Given the description of an element on the screen output the (x, y) to click on. 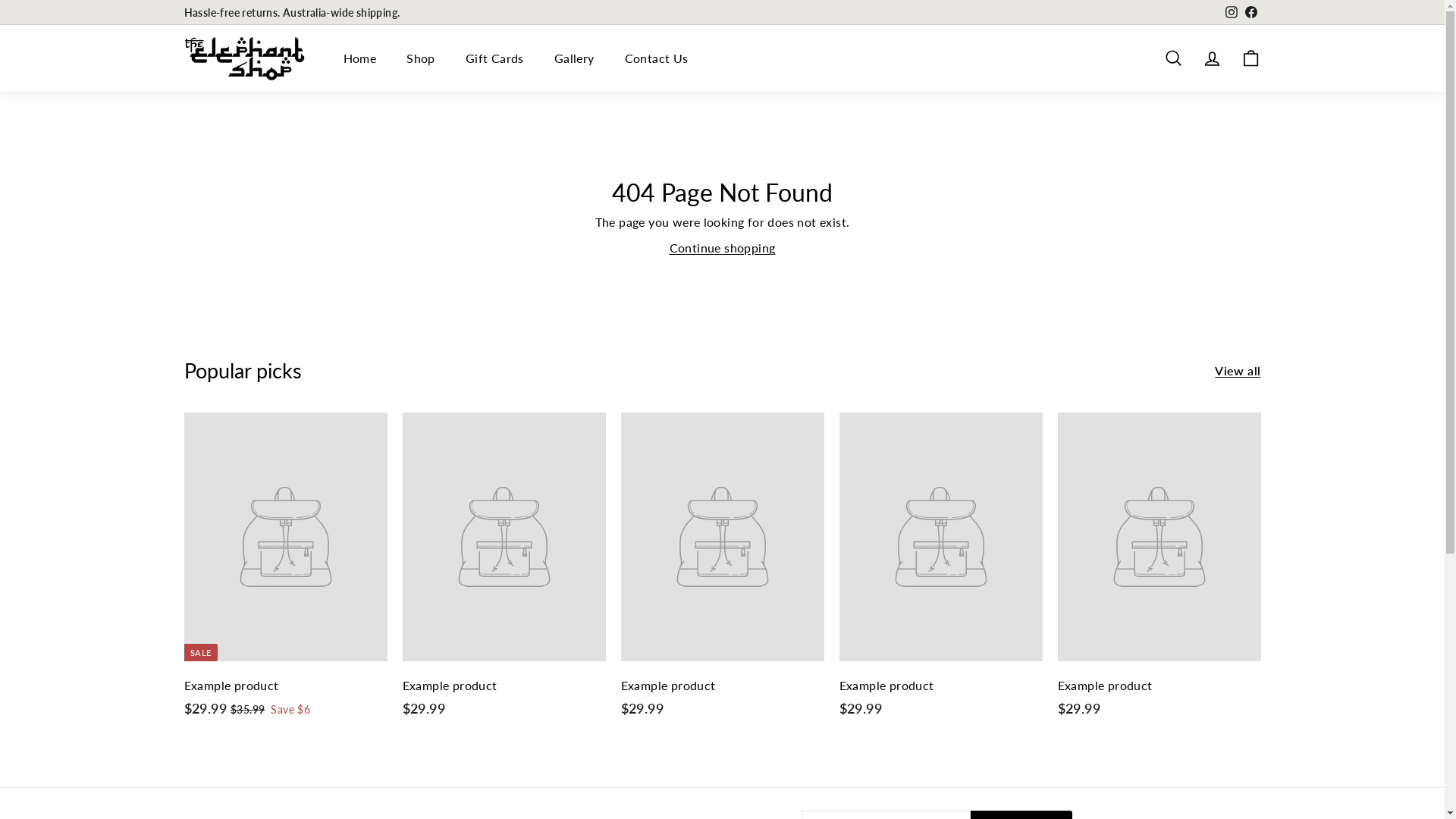
Shop Element type: text (420, 58)
Instagram Element type: text (1230, 11)
View all Element type: text (1237, 370)
Continue shopping Element type: text (722, 247)
Gift Cards Element type: text (494, 58)
Contact Us Element type: text (656, 58)
Example product
$29.99
$29.99 Element type: text (939, 573)
Example product
$29.99
$29.99 Element type: text (1158, 573)
Facebook Element type: text (1250, 11)
Example product
$29.99
$29.99 Element type: text (503, 573)
Search Element type: text (1173, 57)
Account Element type: text (1211, 57)
Gallery Element type: text (574, 58)
SALE
Example product
$29.99
$29.99
$35.99
$35.99
Save $6 Element type: text (284, 573)
Example product
$29.99
$29.99 Element type: text (721, 573)
Home Element type: text (359, 58)
